Given the description of an element on the screen output the (x, y) to click on. 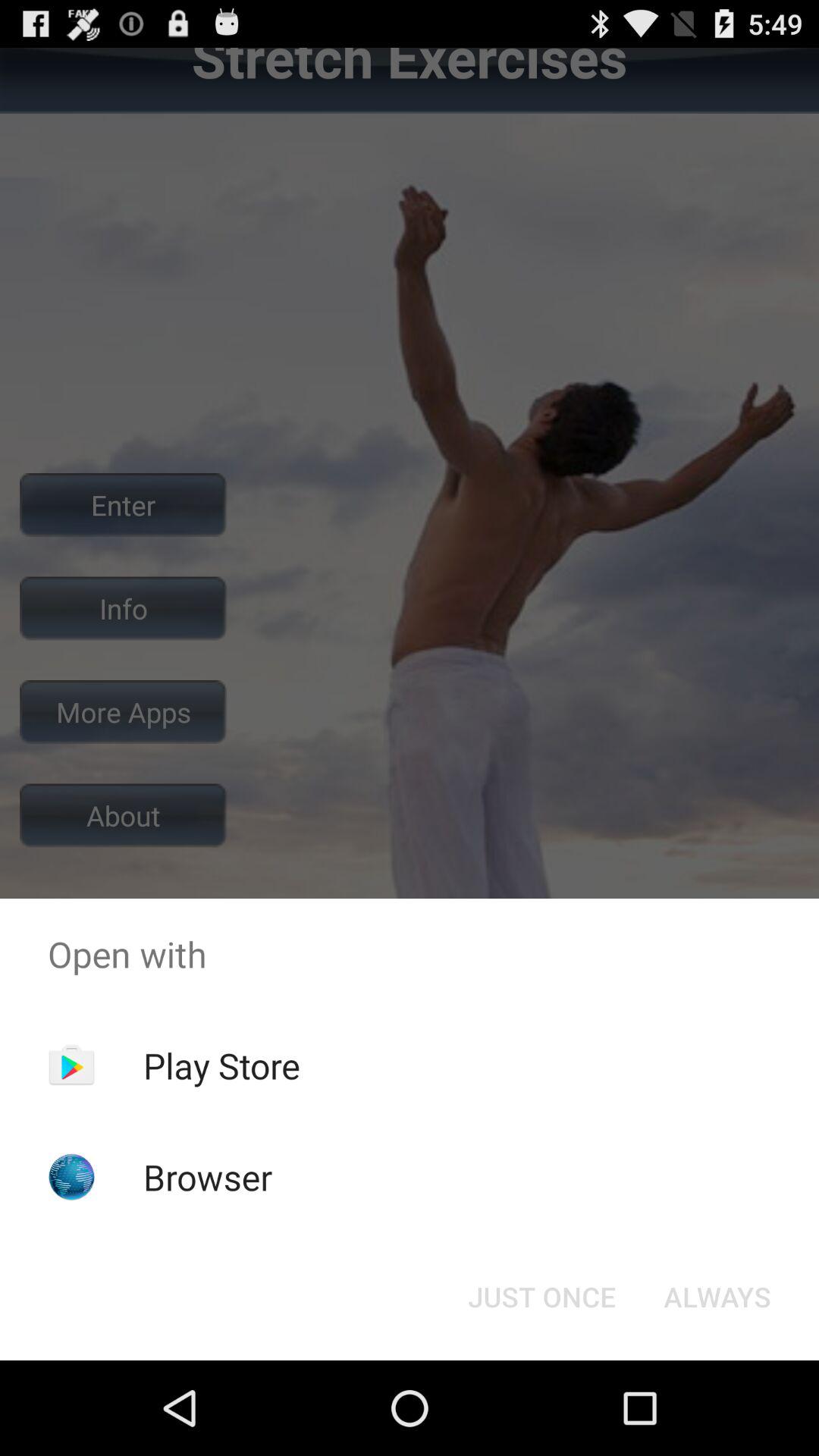
open button at the bottom (541, 1296)
